Given the description of an element on the screen output the (x, y) to click on. 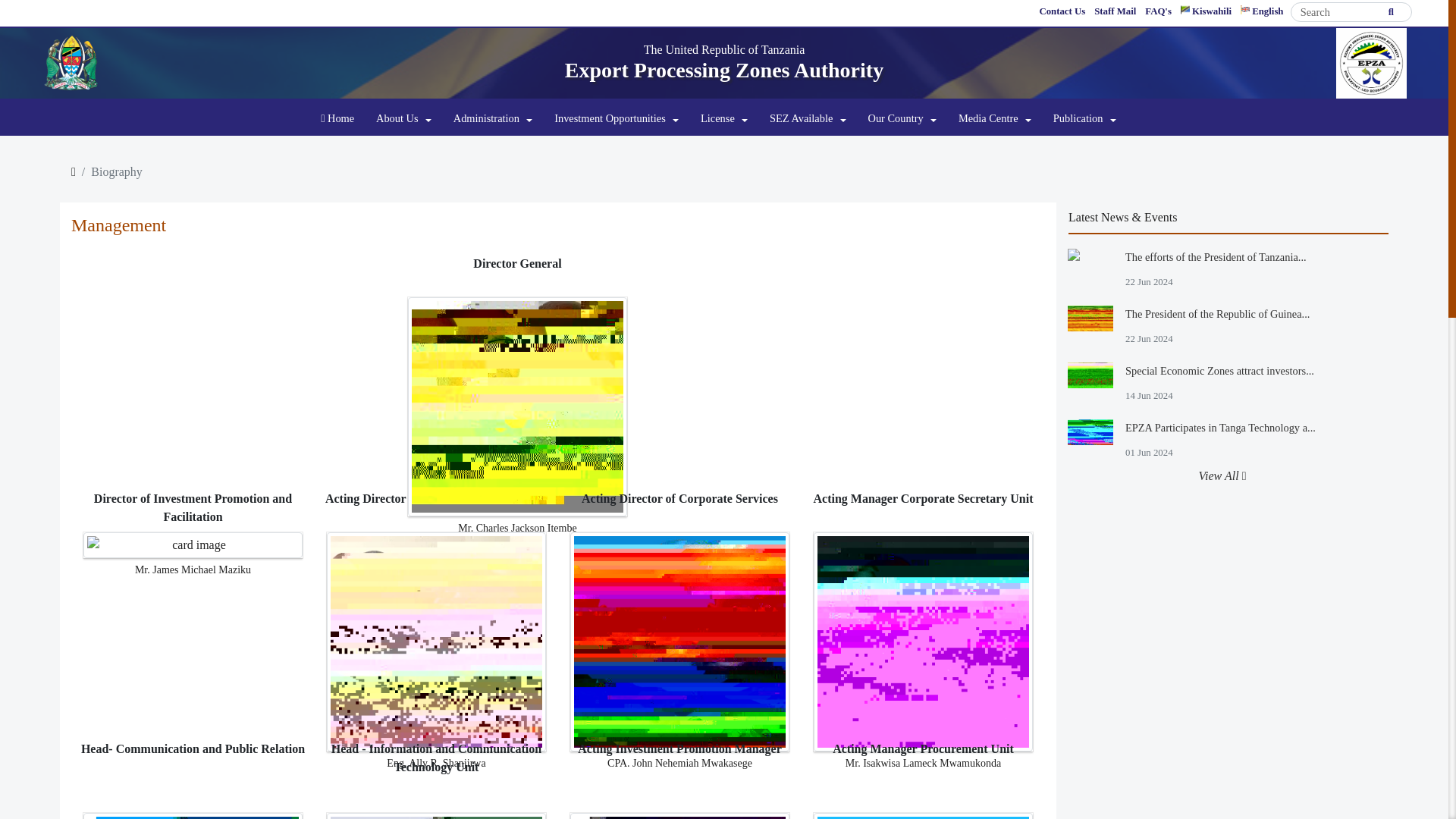
Home (336, 118)
Kiswahili (1206, 11)
Switch Language to swahili (1206, 11)
Investment Opportunities (616, 118)
SEZ Available (806, 118)
About Us (403, 118)
English (1261, 11)
Contact Us (1061, 11)
Staff Mail (1114, 11)
Our Country (901, 118)
FAQ's (1158, 11)
Administration (492, 118)
License (724, 118)
Switch Language to English (1261, 11)
